Given the description of an element on the screen output the (x, y) to click on. 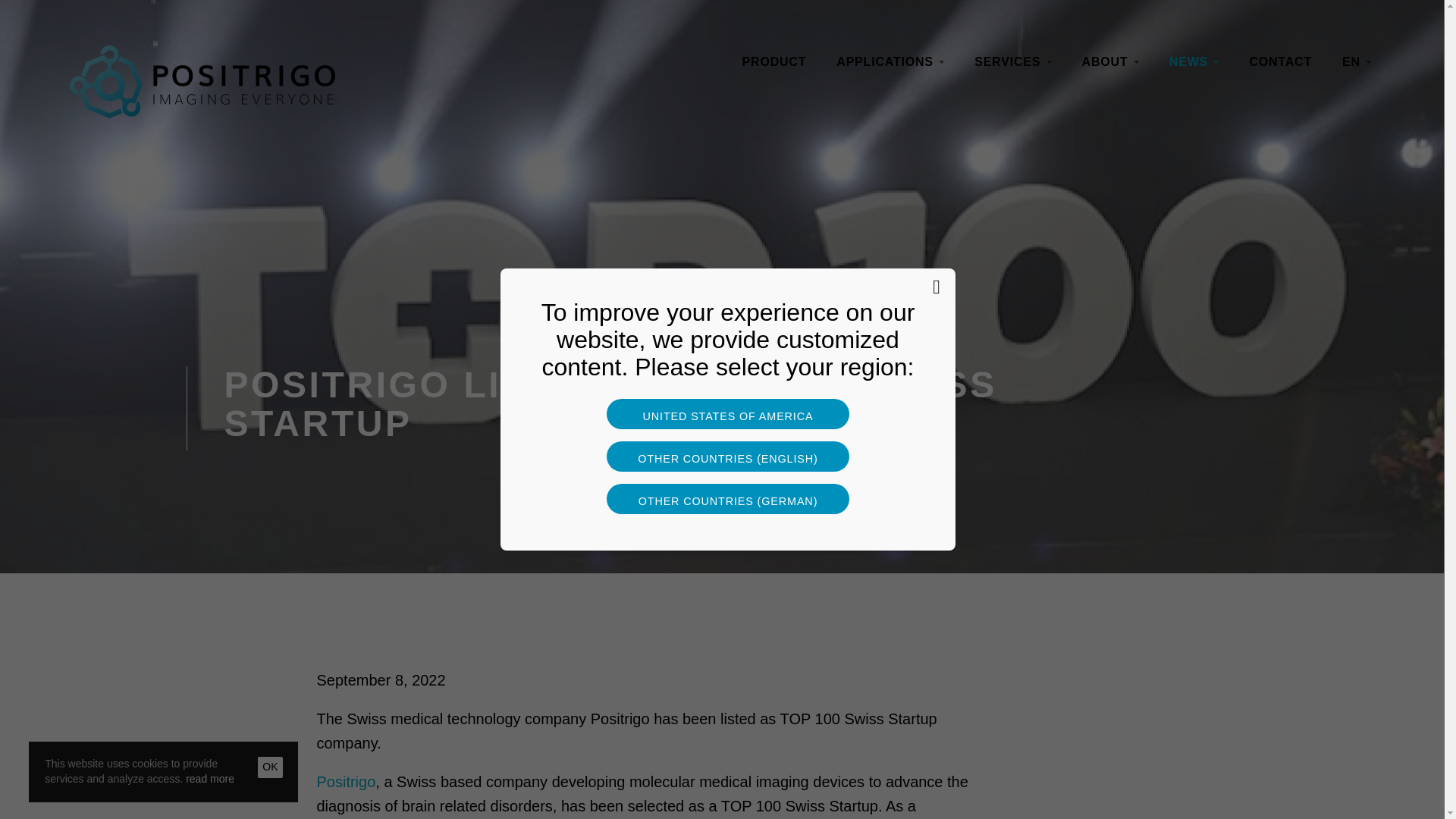
ABOUT (1110, 62)
CONTACT (1279, 62)
Services (1012, 62)
NEWS (1194, 62)
About (1110, 62)
PRODUCT (774, 62)
EN (1356, 62)
Product (774, 62)
SERVICES (1012, 62)
Applications (890, 62)
